Given the description of an element on the screen output the (x, y) to click on. 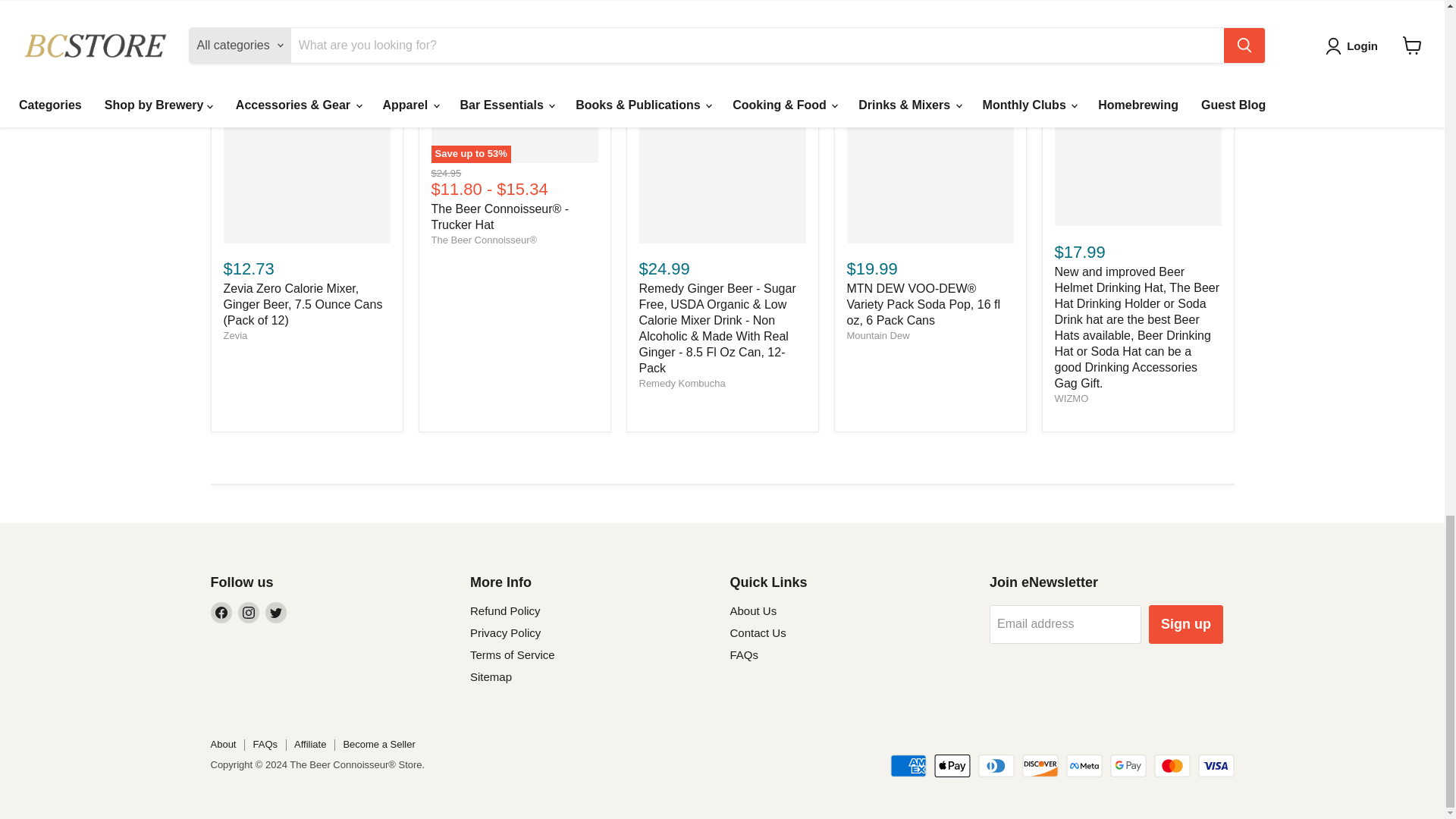
WIZMO (1070, 398)
Zevia (234, 335)
Mountain Dew (876, 335)
Facebook (221, 612)
Remedy Kombucha (682, 383)
Twitter (275, 612)
Instagram (248, 612)
